Given the description of an element on the screen output the (x, y) to click on. 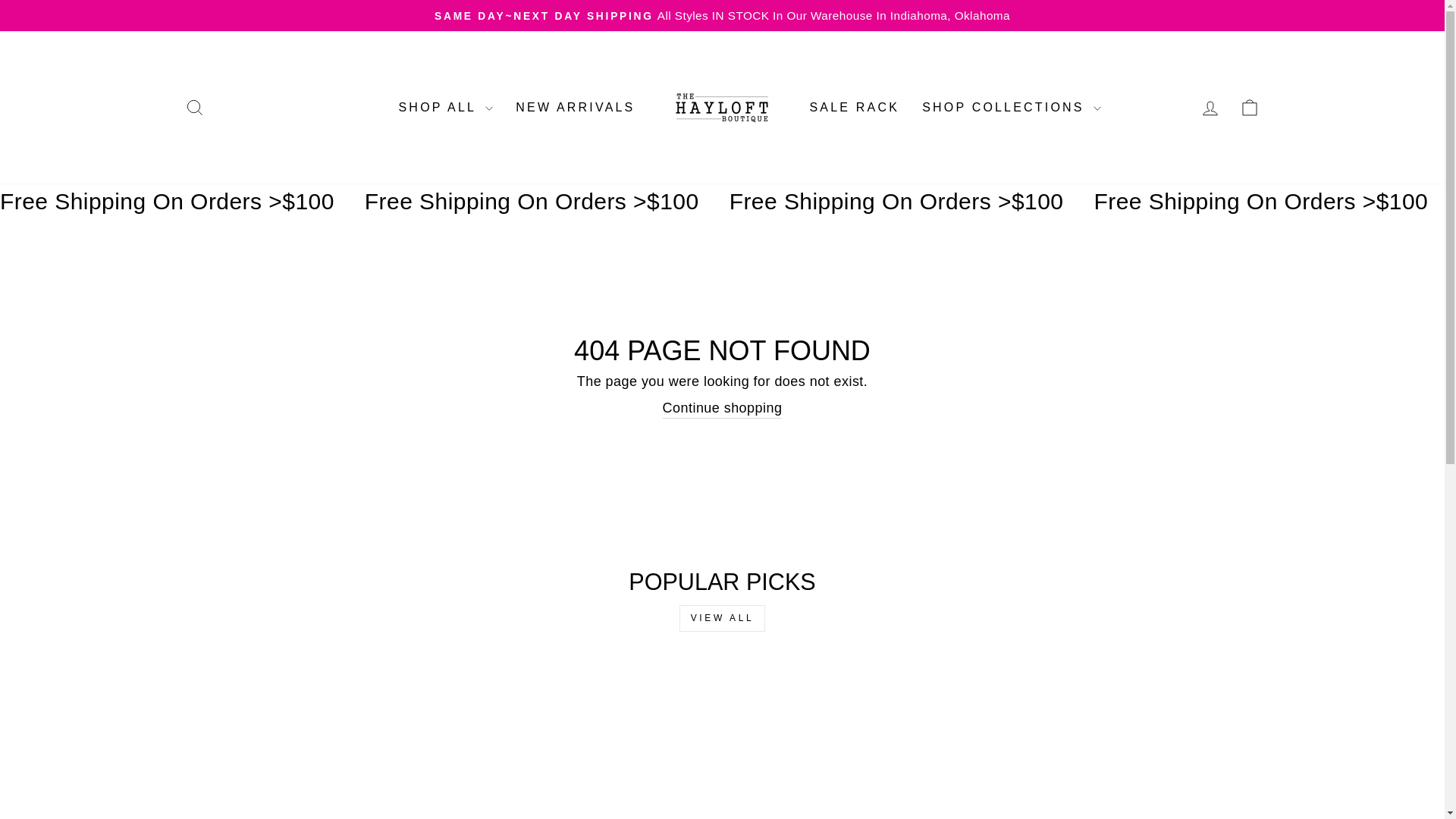
ICON-BAG-MINIMAL (194, 107)
SALE RACK (1249, 107)
NEW ARRIVALS (854, 108)
ICON-SEARCH (574, 108)
ACCOUNT (194, 107)
